Given the description of an element on the screen output the (x, y) to click on. 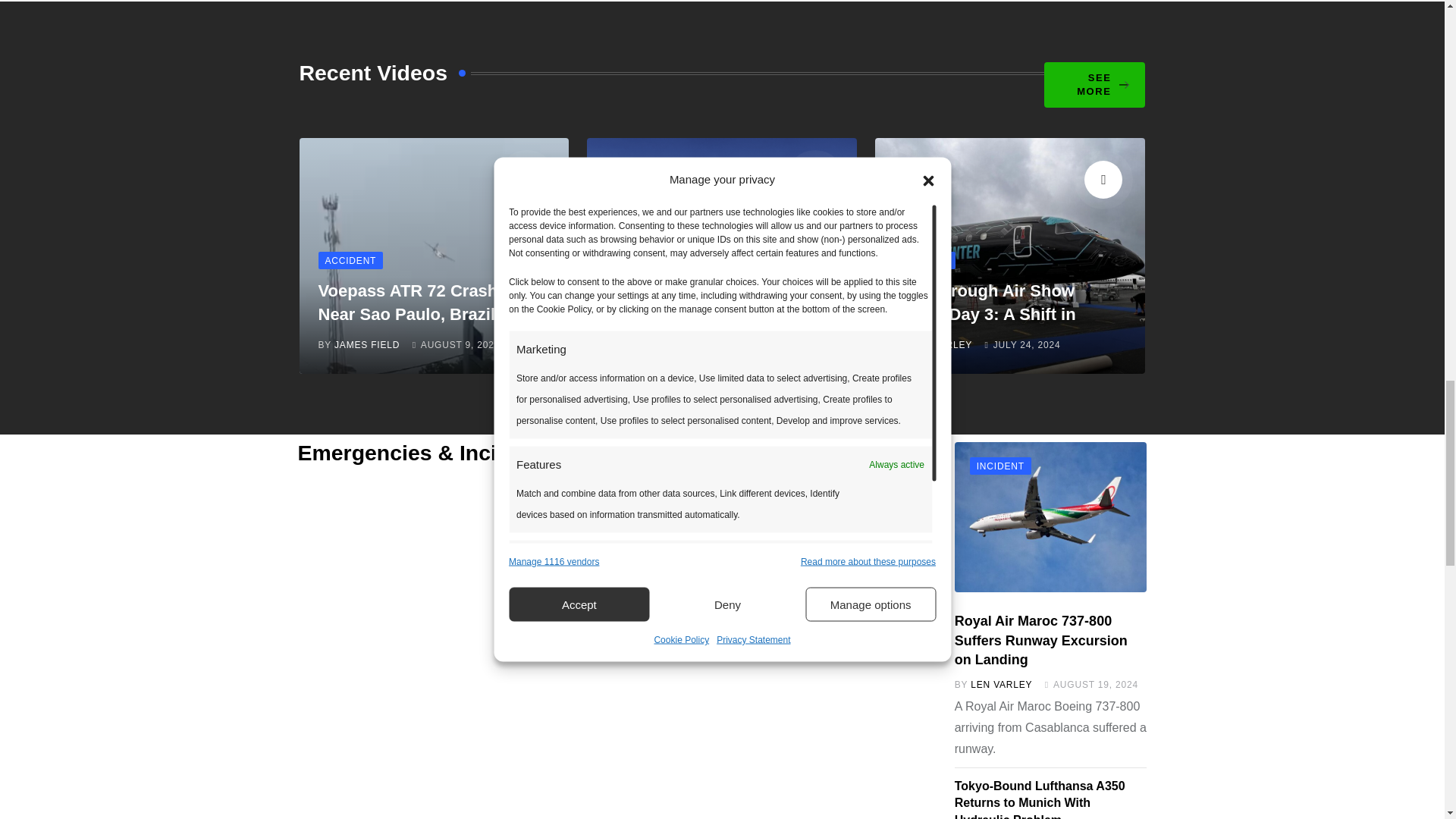
Posts by Len Varley (941, 344)
Posts by James Field (366, 344)
Posts by James Field (655, 344)
